Given the description of an element on the screen output the (x, y) to click on. 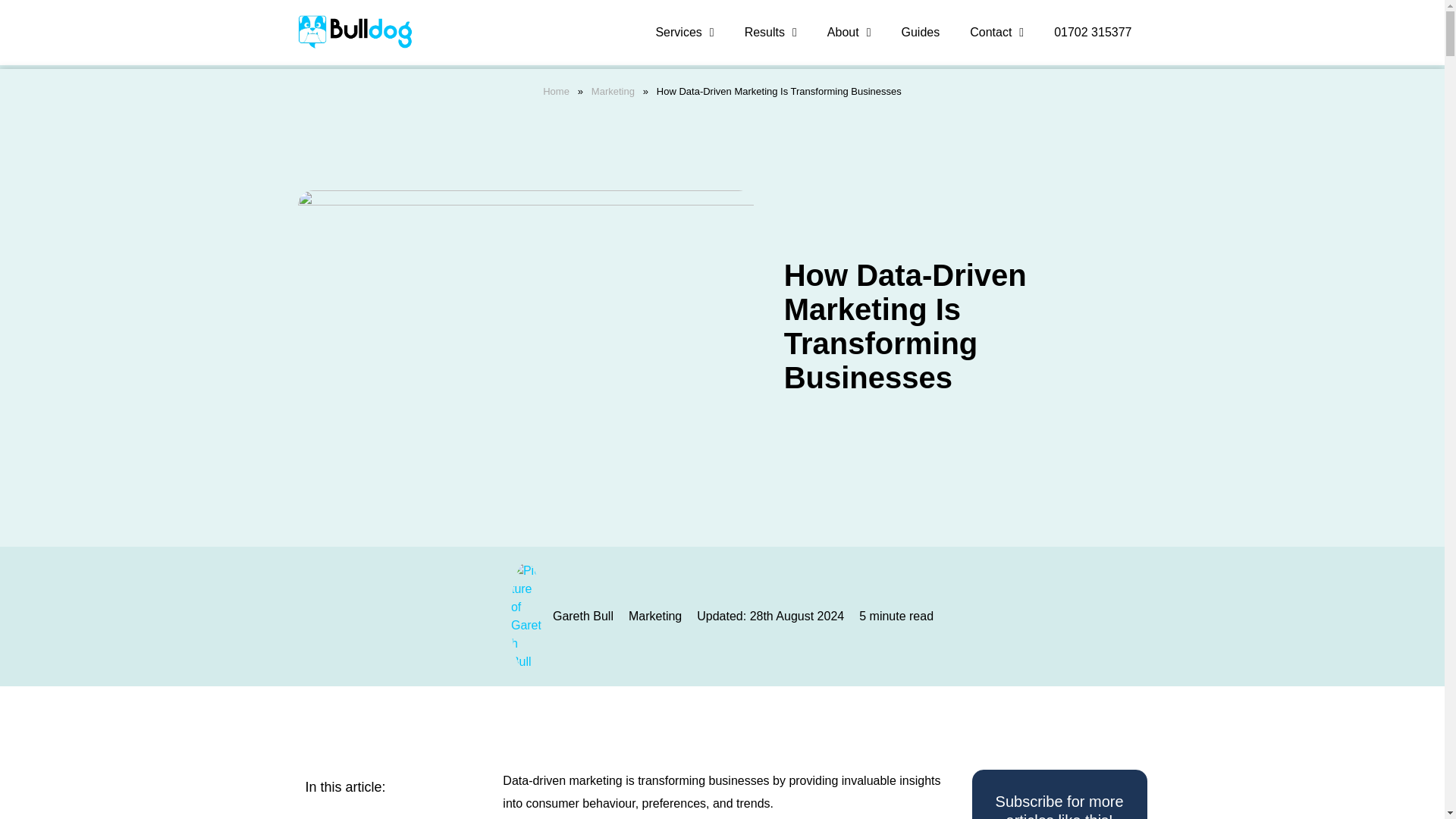
Results (770, 32)
Guides (920, 32)
Services (684, 32)
Contact (997, 32)
About (849, 32)
01702 315377 (1093, 32)
